Given the description of an element on the screen output the (x, y) to click on. 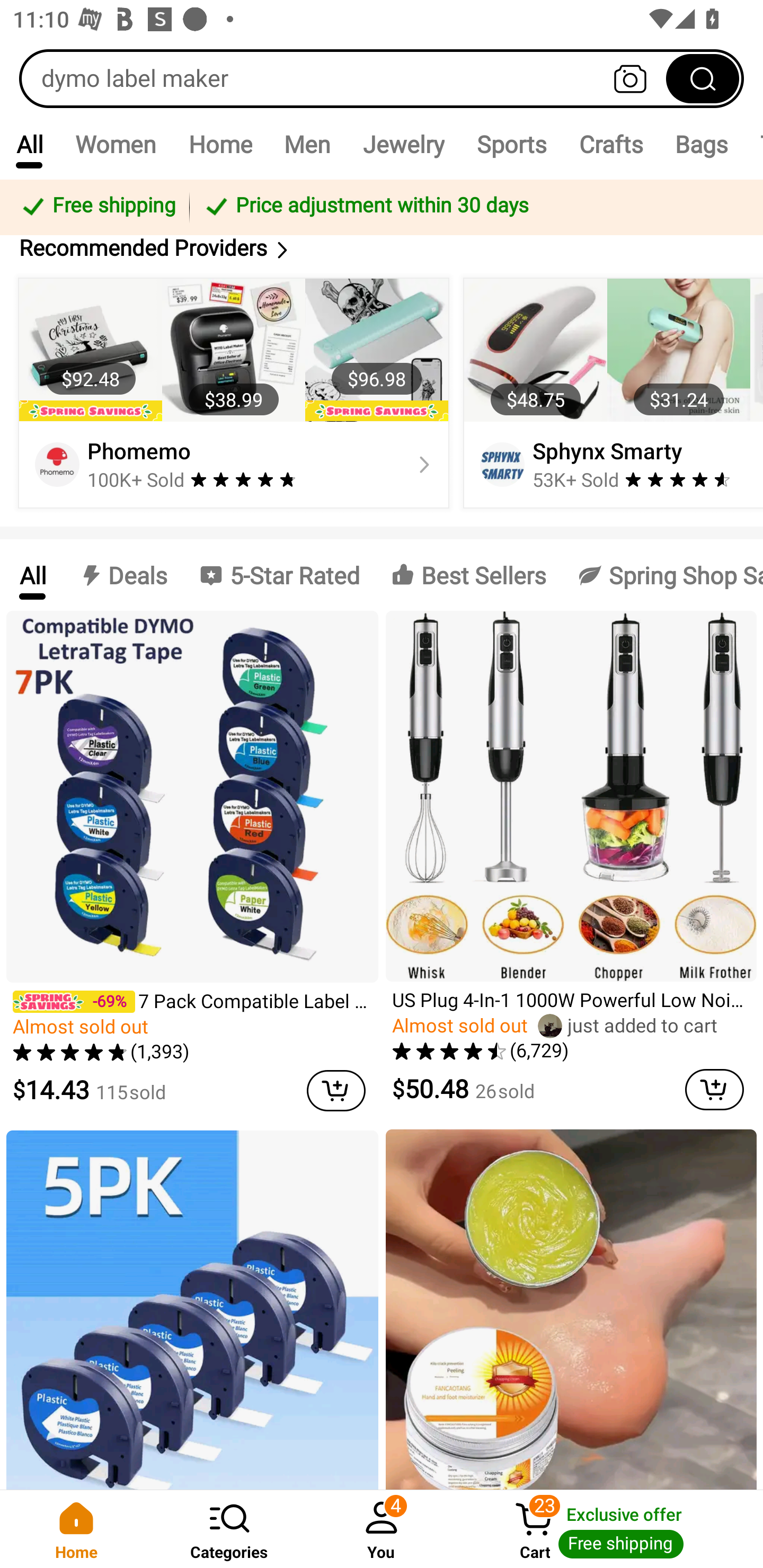
dymo label maker (381, 78)
All (29, 144)
Women (115, 144)
Home (219, 144)
Men (306, 144)
Jewelry (403, 144)
Sports (511, 144)
Crafts (611, 144)
Bags (701, 144)
Free shipping (97, 206)
Price adjustment within 30 days (472, 206)
Recommended Providers (381, 248)
$92.48 $38.99 $96.98 Phomemo 100K+ Sold (233, 393)
$48.75 $31.24 Sphynx Smarty 53K+ Sold (610, 393)
All (32, 575)
Deals Deals Deals (122, 575)
5-Star Rated 5-Star Rated 5-Star Rated (279, 575)
Best Sellers Best Sellers Best Sellers (468, 575)
Spring Shop Save Spring Shop Save Spring Shop Save (662, 575)
cart delete (714, 1089)
cart delete (335, 1090)
Home (76, 1528)
Categories (228, 1528)
You 4 You (381, 1528)
Cart 23 Cart Exclusive offer (610, 1528)
